Given the description of an element on the screen output the (x, y) to click on. 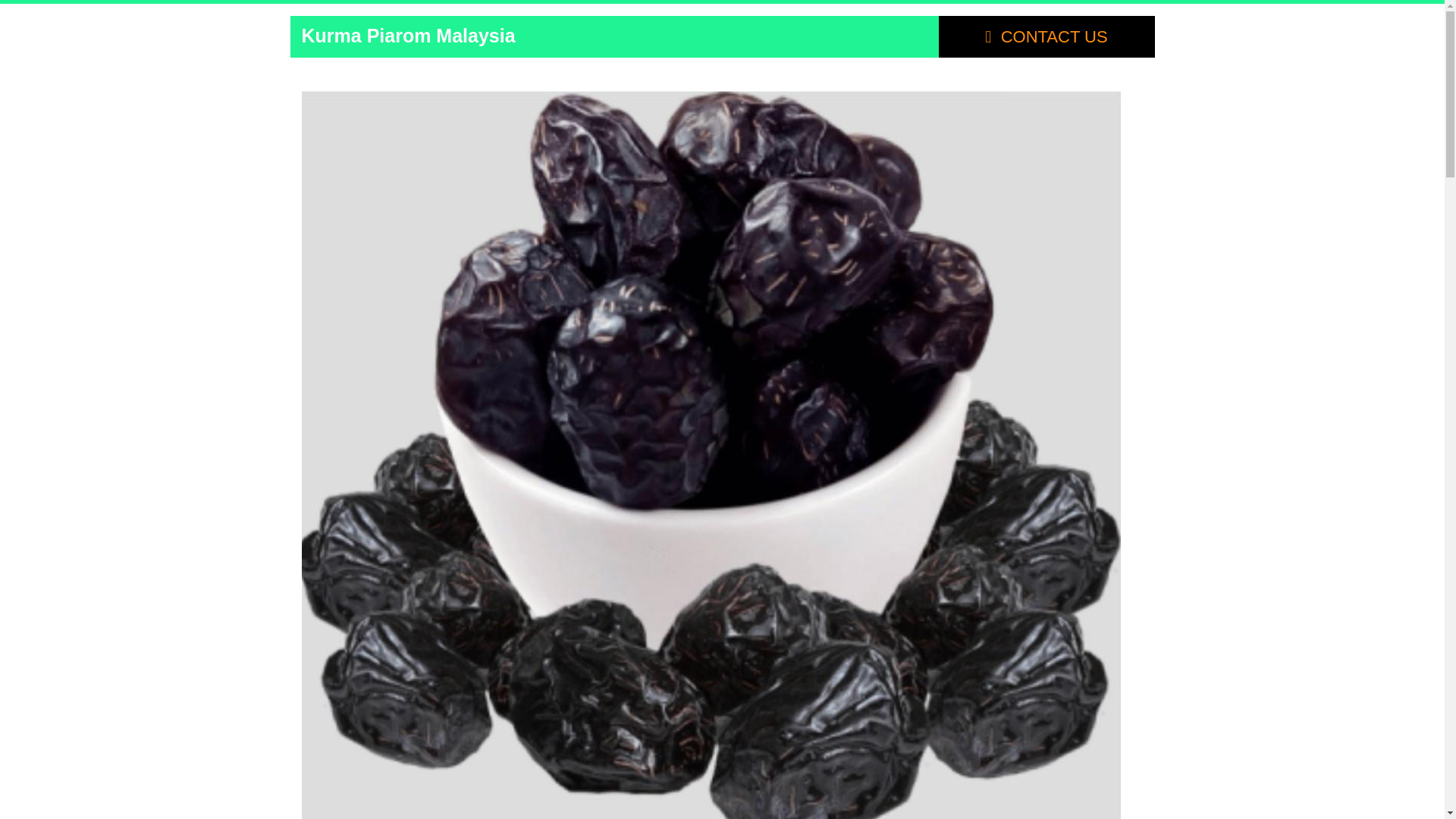
Kurma Piarom Malaysia (408, 35)
  CONTACT US (1045, 36)
